Given the description of an element on the screen output the (x, y) to click on. 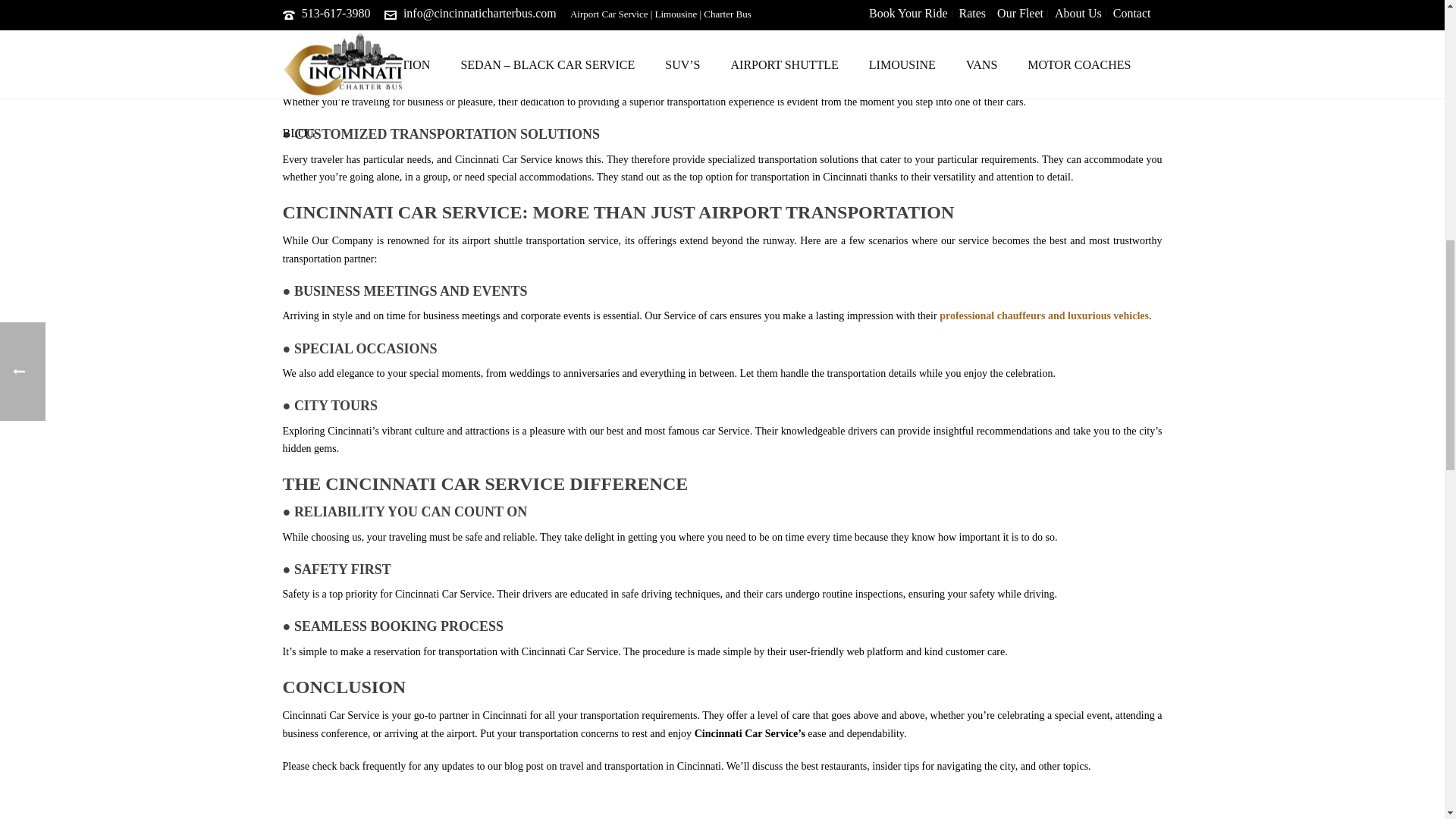
Cincinnati Car Rental Company (356, 84)
